Given the description of an element on the screen output the (x, y) to click on. 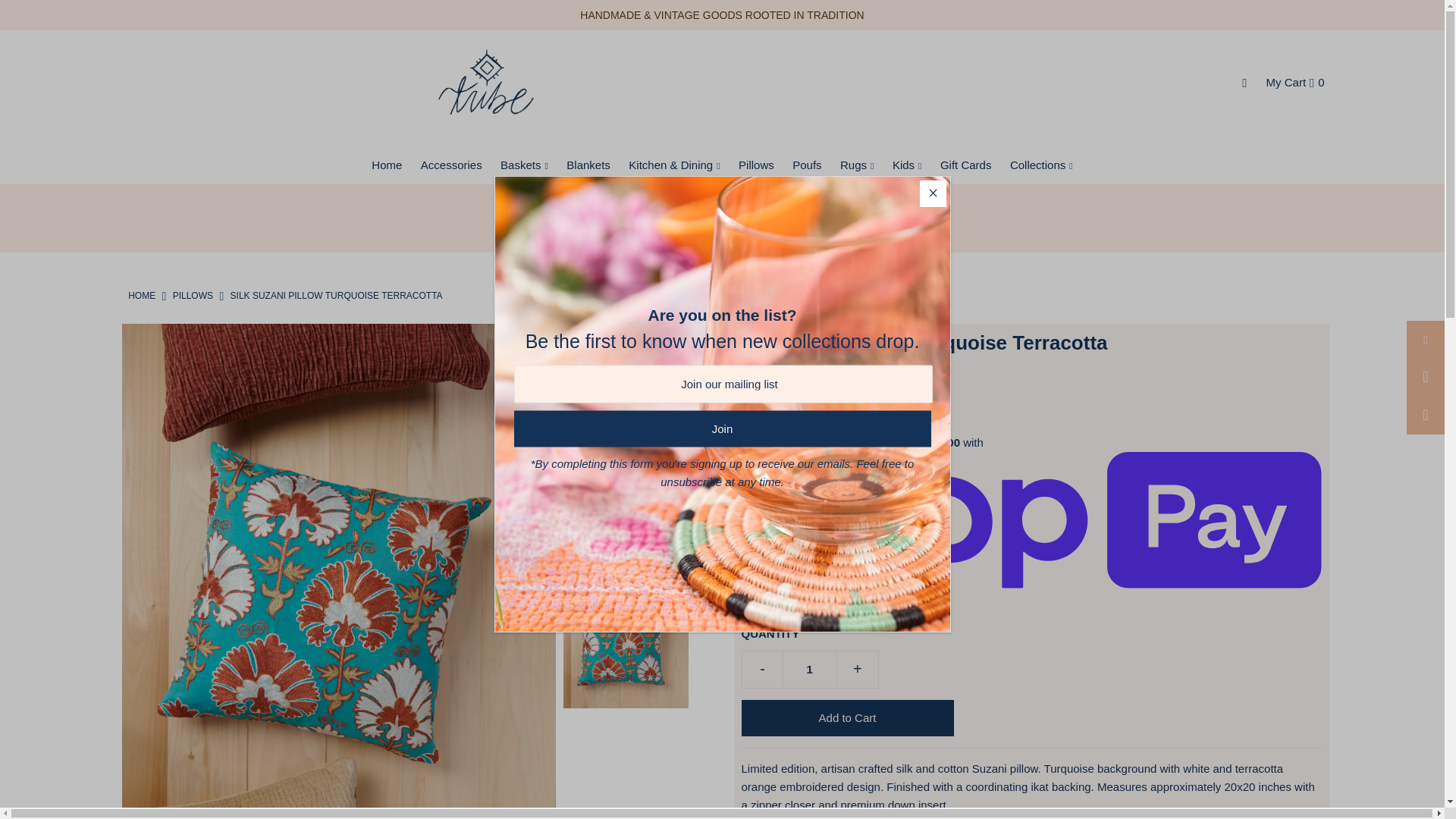
Add to Cart (847, 718)
1 (810, 669)
Share on Facebook (1425, 339)
Pillows (192, 295)
Pillows (755, 164)
Home (141, 295)
Blankets (588, 164)
Baskets (524, 164)
Join (722, 428)
Share on Pinterest (1425, 415)
Share on Twitter (1425, 377)
Accessories (451, 164)
